Given the description of an element on the screen output the (x, y) to click on. 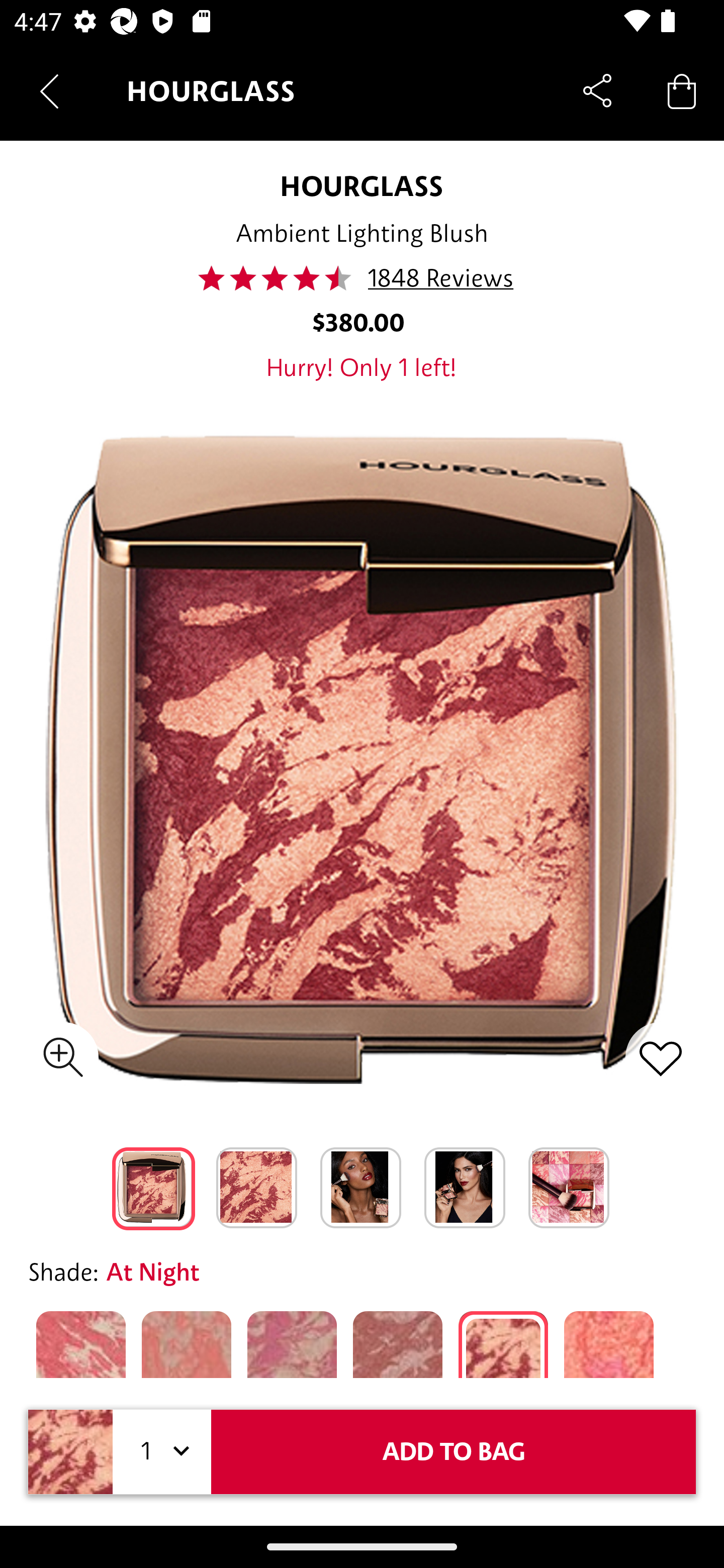
Navigate up (49, 91)
Share (597, 90)
Bag (681, 90)
HOURGLASS (361, 186)
45.0 1848 Reviews (361, 278)
1 (161, 1451)
ADD TO BAG (453, 1451)
